Given the description of an element on the screen output the (x, y) to click on. 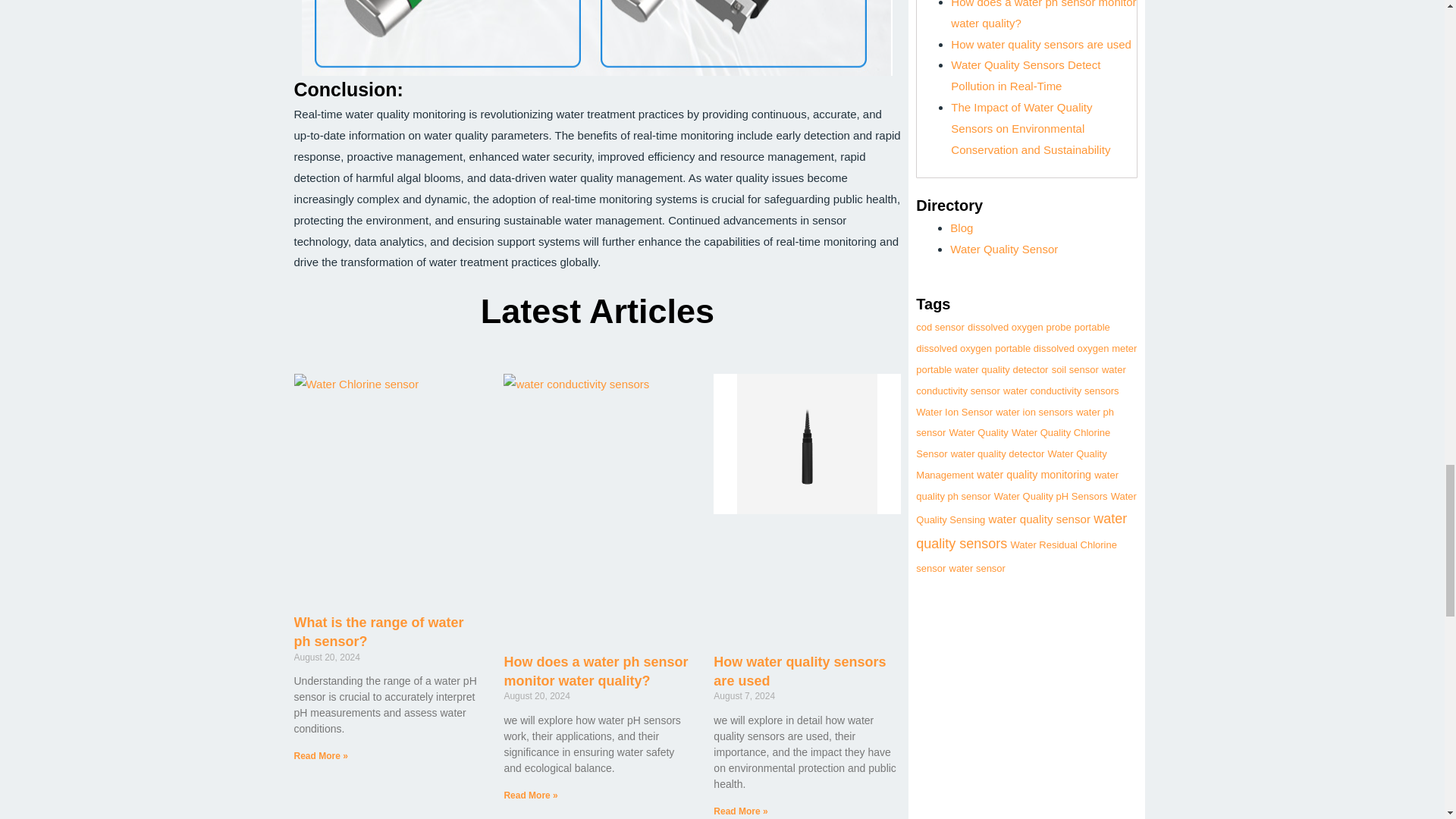
How does a water ph sensor monitor water quality? (595, 671)
How does a water ph sensor monitor water quality? (1042, 14)
What is the range of water ph sensor? (379, 632)
How water quality sensors are used (799, 671)
